Given the description of an element on the screen output the (x, y) to click on. 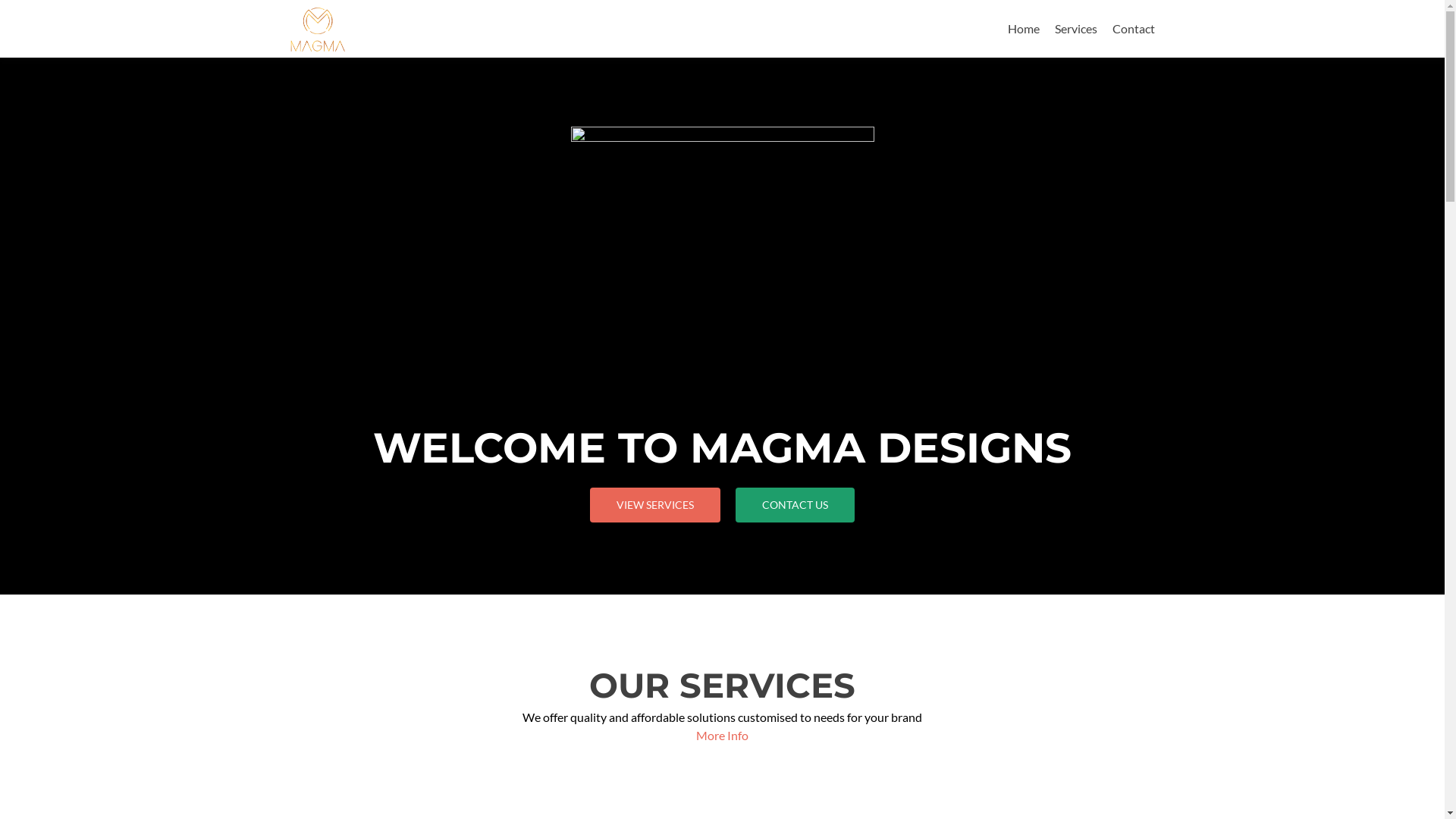
Contact Element type: text (1132, 28)
More Info Element type: text (722, 735)
VIEW SERVICES Element type: text (654, 504)
Skip to content Element type: text (1046, 9)
CONTACT US Element type: text (794, 504)
Services Element type: text (1075, 28)
Home Element type: text (1022, 28)
